Given the description of an element on the screen output the (x, y) to click on. 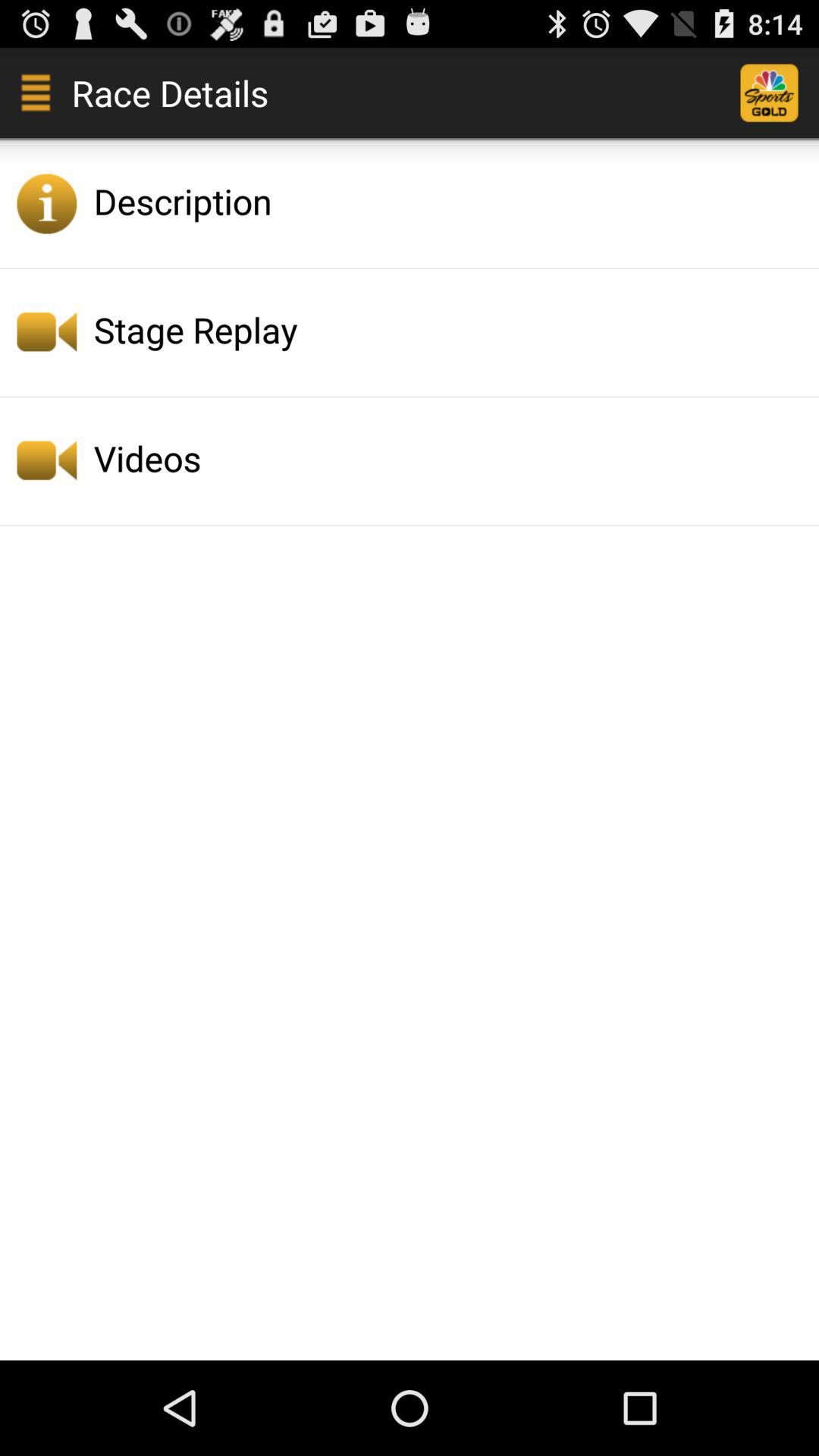
click the videos (452, 457)
